Given the description of an element on the screen output the (x, y) to click on. 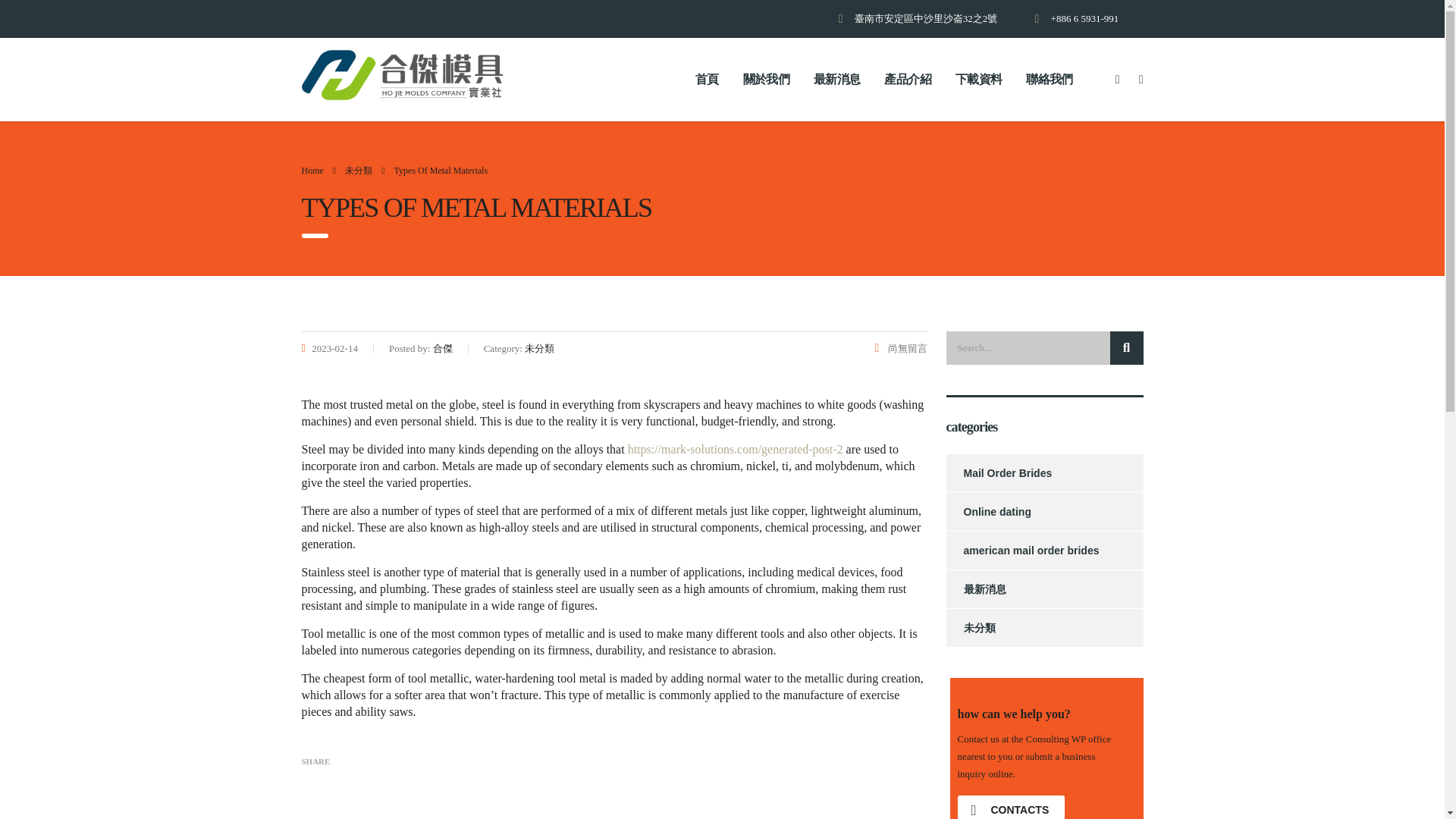
Home (312, 170)
Mail Order Brides (999, 473)
Online dating (988, 511)
american mail order brides (1022, 550)
